Given the description of an element on the screen output the (x, y) to click on. 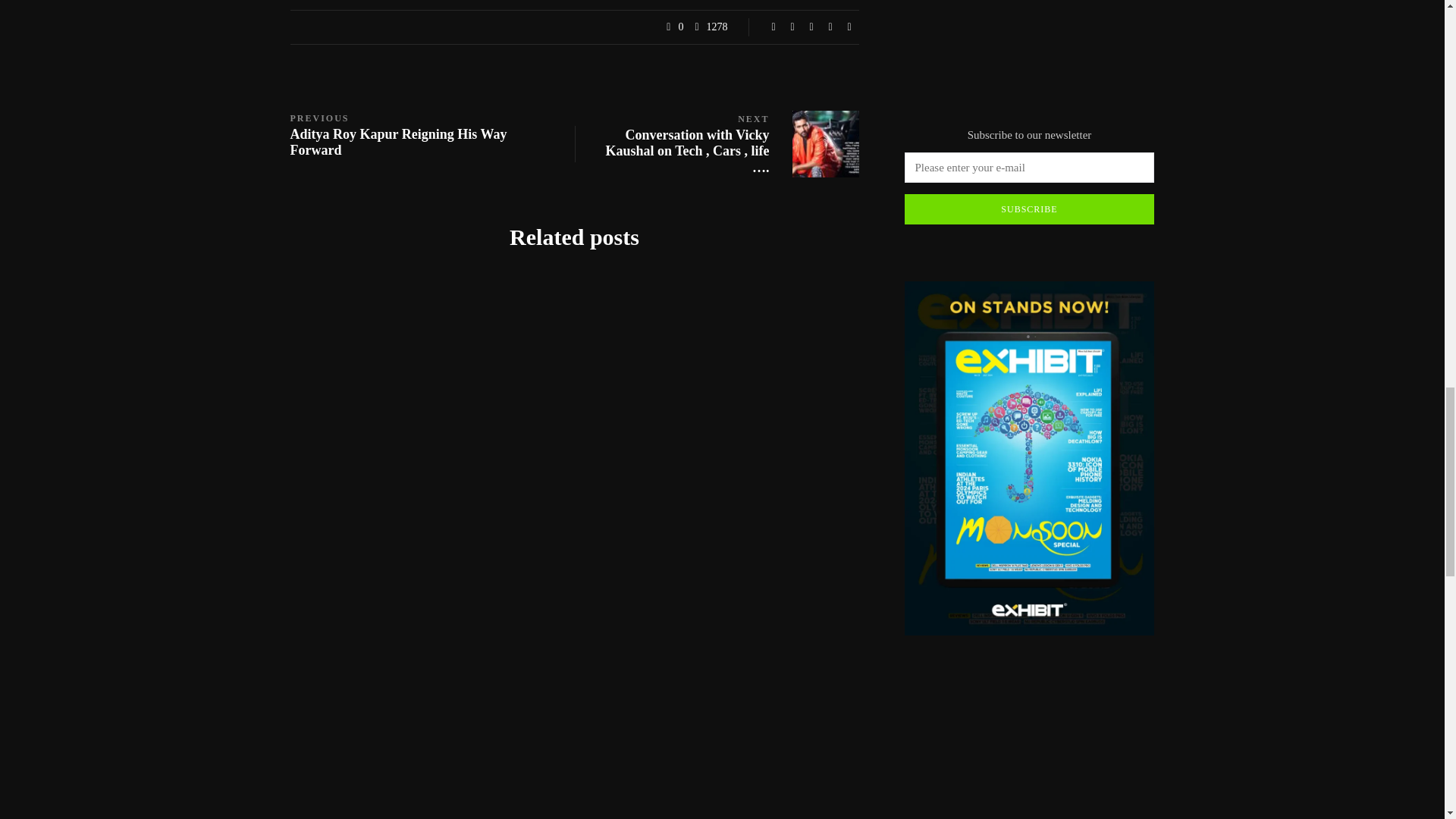
Tweet this (792, 27)
Share with Facebook (773, 27)
